Given the description of an element on the screen output the (x, y) to click on. 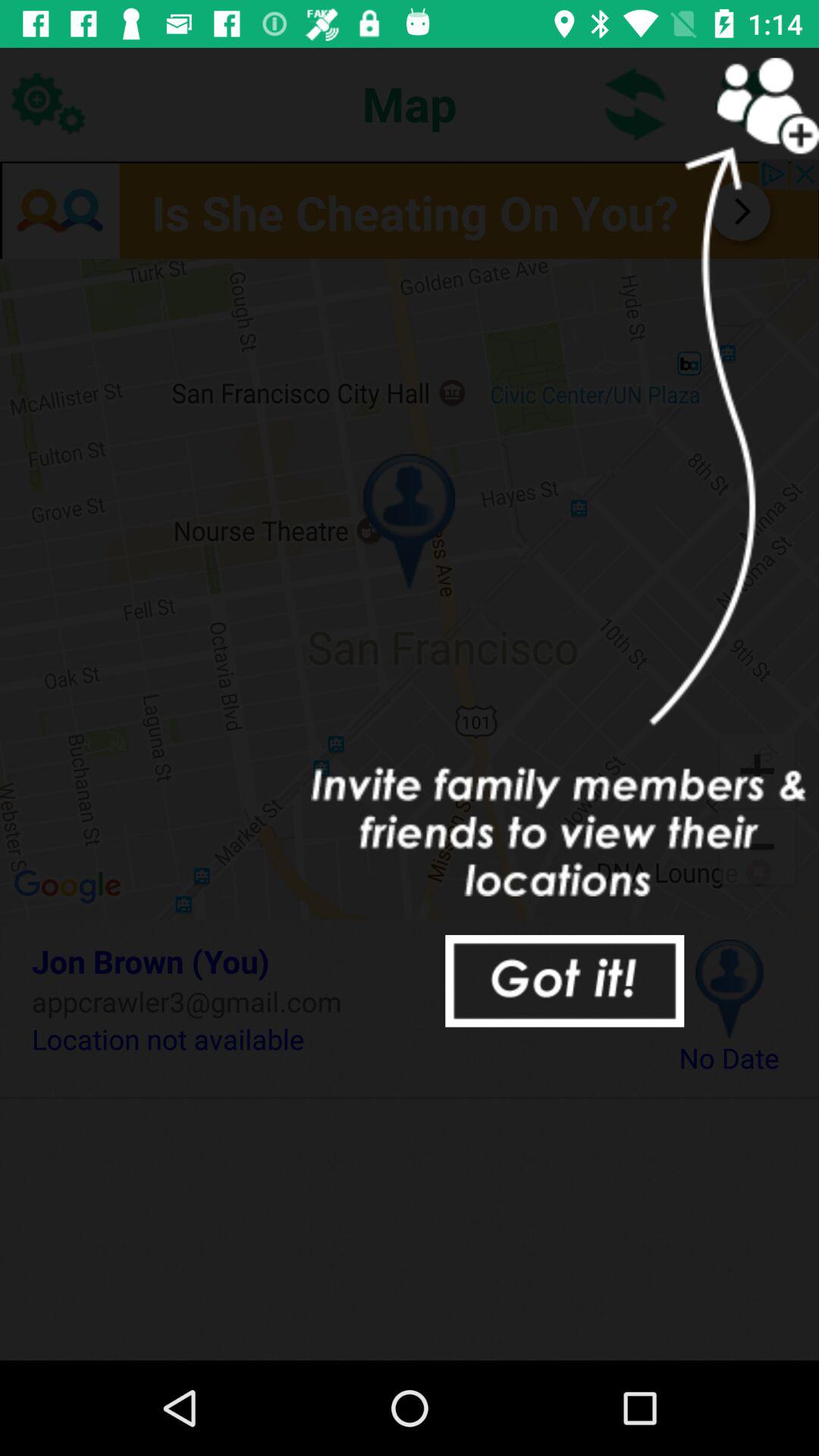
select familiy members (751, 103)
